Given the description of an element on the screen output the (x, y) to click on. 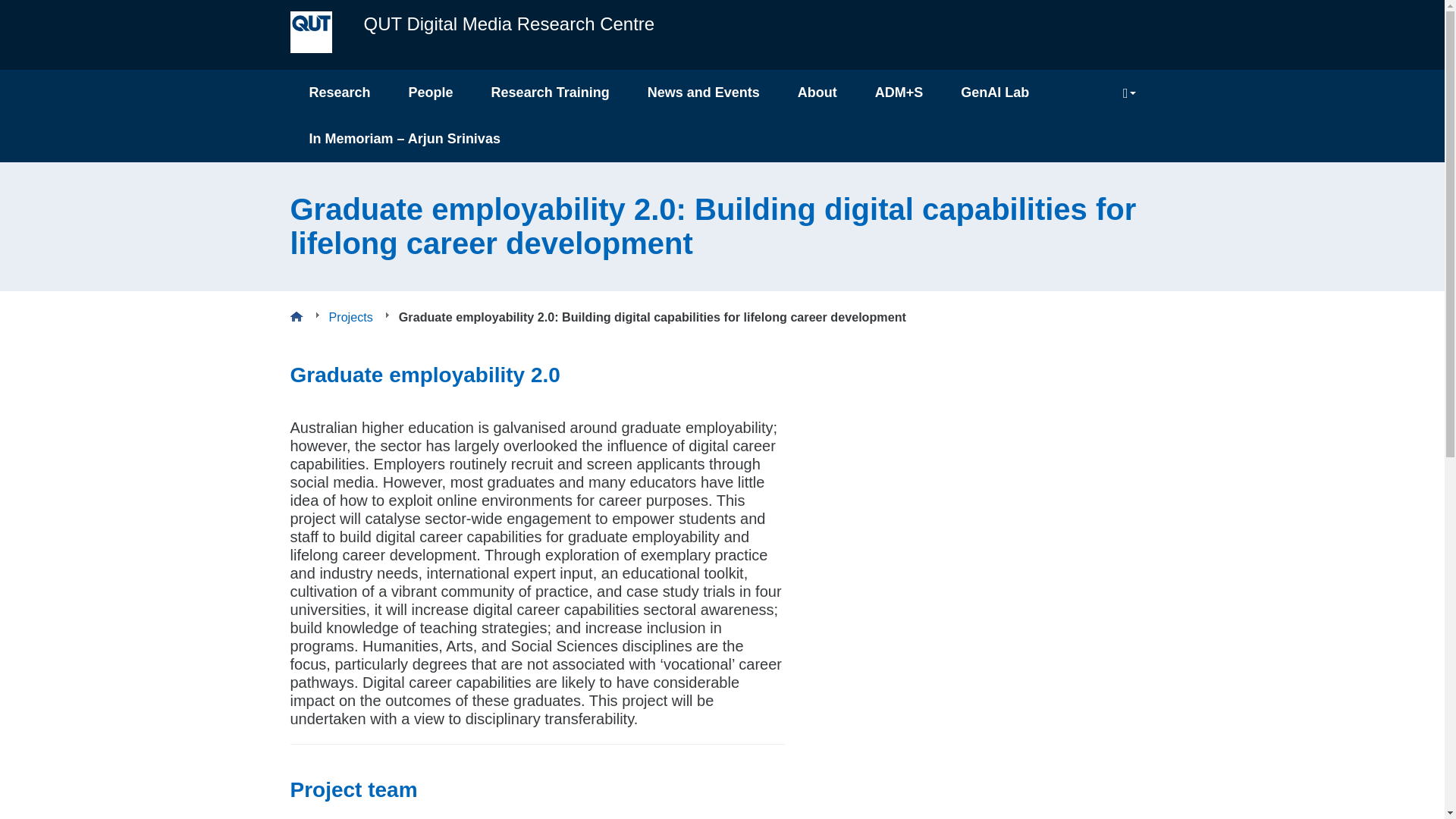
QUT Digital Media Research Centre (504, 30)
People (430, 92)
QUT Digital Media Research Centre (504, 30)
GenAI Lab (995, 92)
Research Training (549, 92)
Projects (350, 316)
About (817, 92)
Home (295, 316)
News and Events (703, 92)
Research (338, 92)
